Given the description of an element on the screen output the (x, y) to click on. 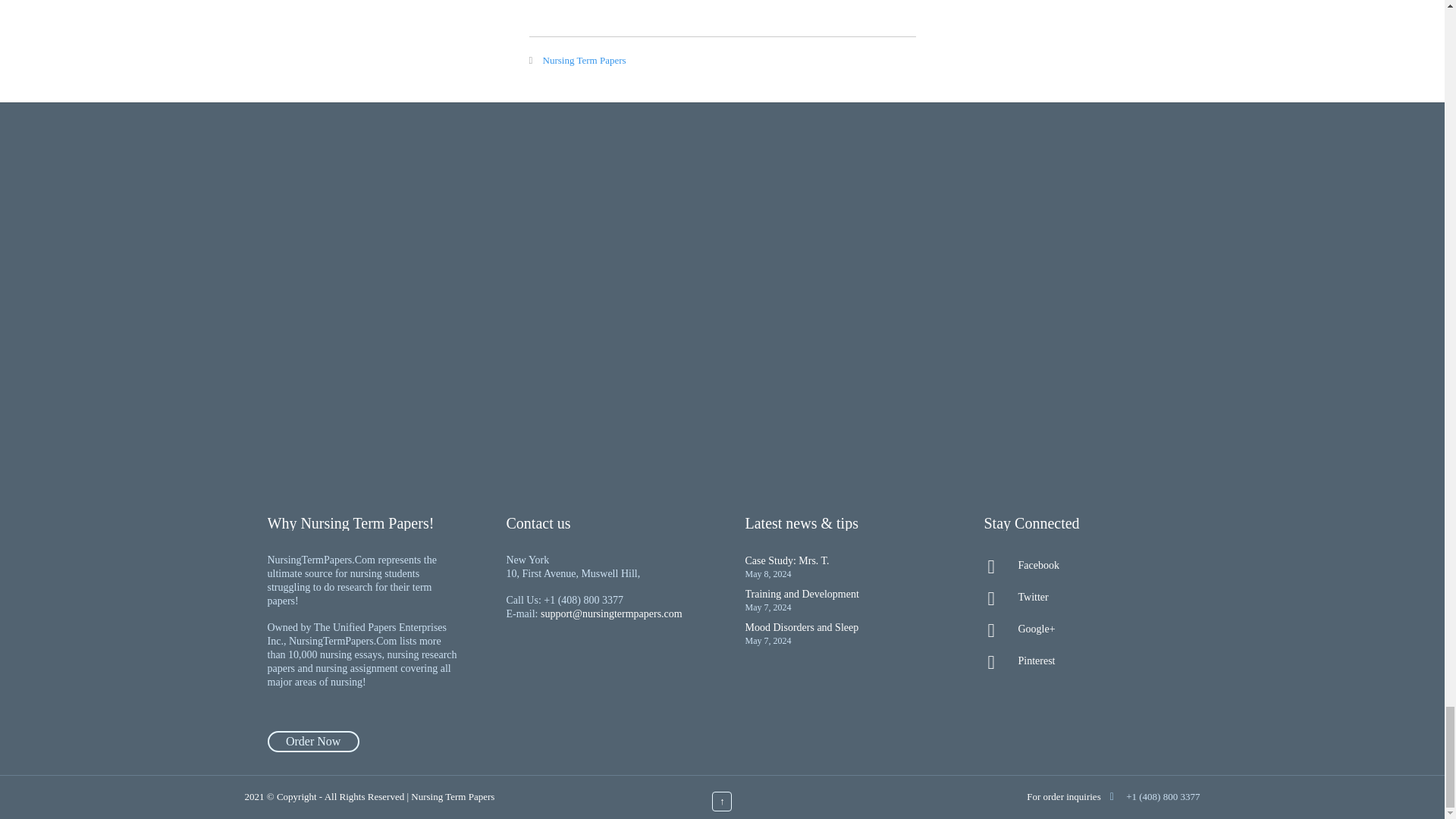
Pinterest (1080, 661)
Twitter (1080, 597)
Training and Development (801, 593)
Facebook (1080, 565)
Case Study: Mrs. T. (786, 560)
Mood Disorders and Sleep (801, 627)
